Given the description of an element on the screen output the (x, y) to click on. 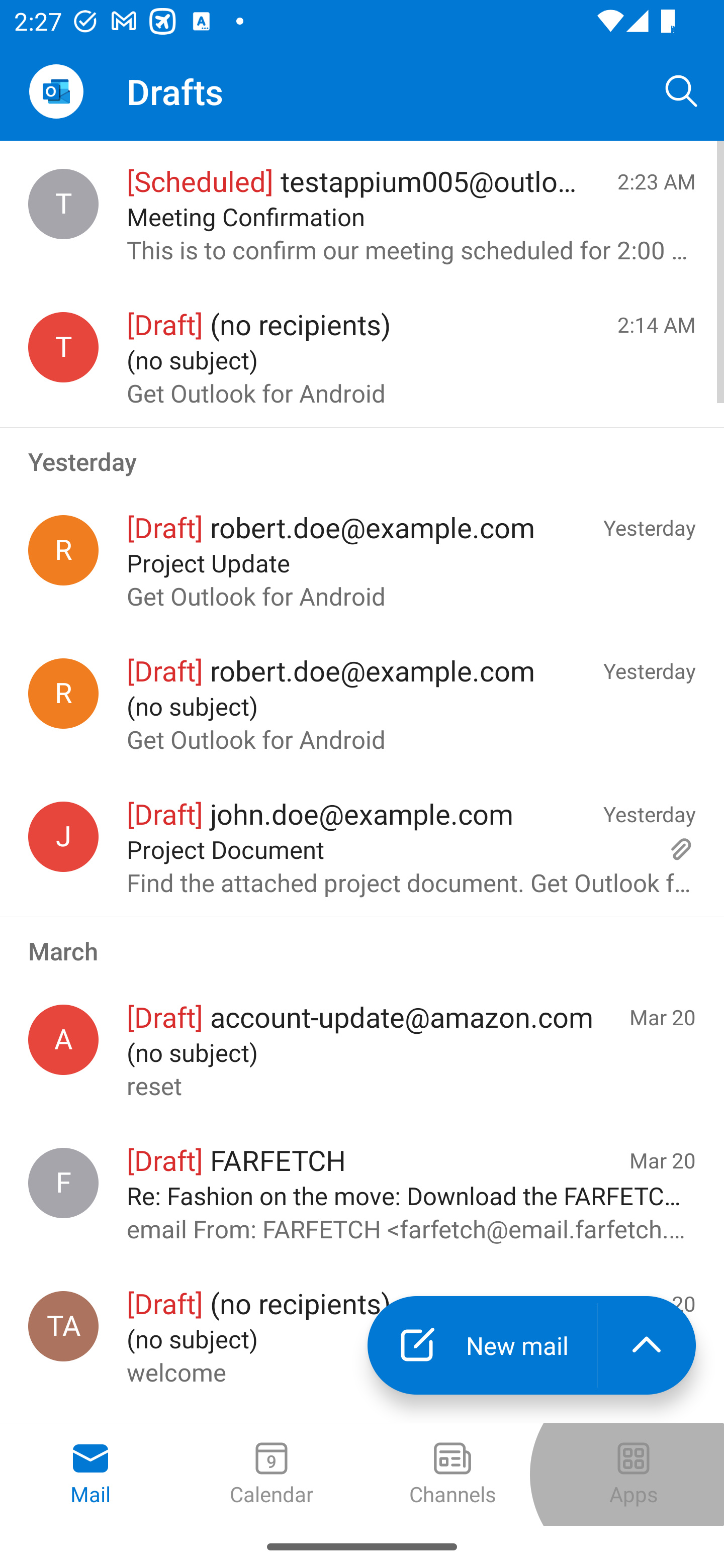
Search, ,  (681, 90)
Open Navigation Drawer (55, 91)
testappium002@outlook.com (63, 347)
robert.doe@example.com, testappium002@outlook.com (63, 549)
robert.doe@example.com, testappium002@outlook.com (63, 693)
john.doe@example.com, testappium002@outlook.com (63, 836)
account-update@amazon.com (63, 1040)
FARFETCH, testappium002@outlook.com (63, 1182)
Test Appium, testappium002@outlook.com (63, 1325)
New mail (481, 1344)
launch the extended action menu (646, 1344)
Calendar (271, 1474)
Channels (452, 1474)
Apps (633, 1474)
